Given the description of an element on the screen output the (x, y) to click on. 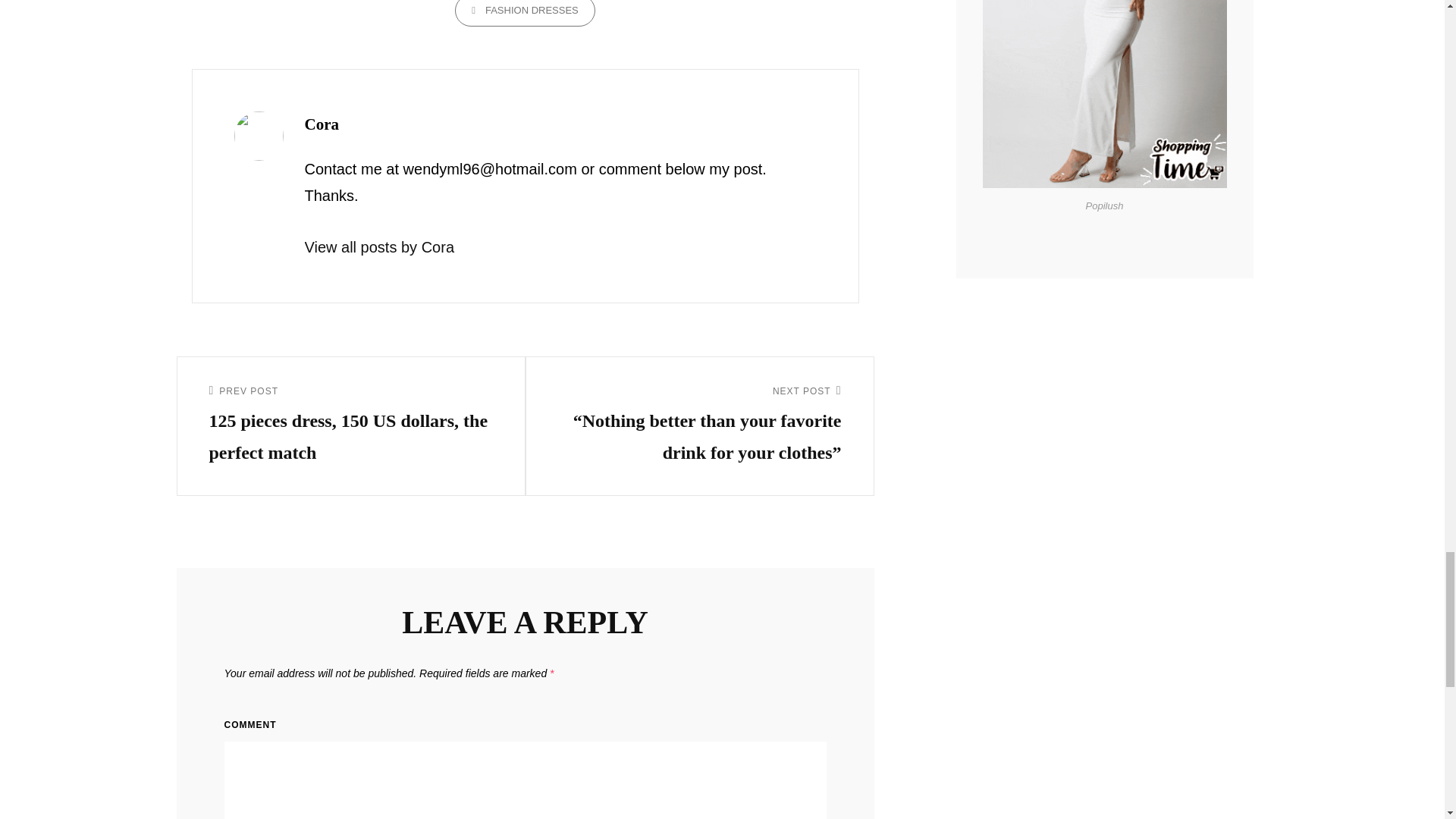
FASHION DRESSES (524, 13)
View all posts by Cora (560, 247)
